Given the description of an element on the screen output the (x, y) to click on. 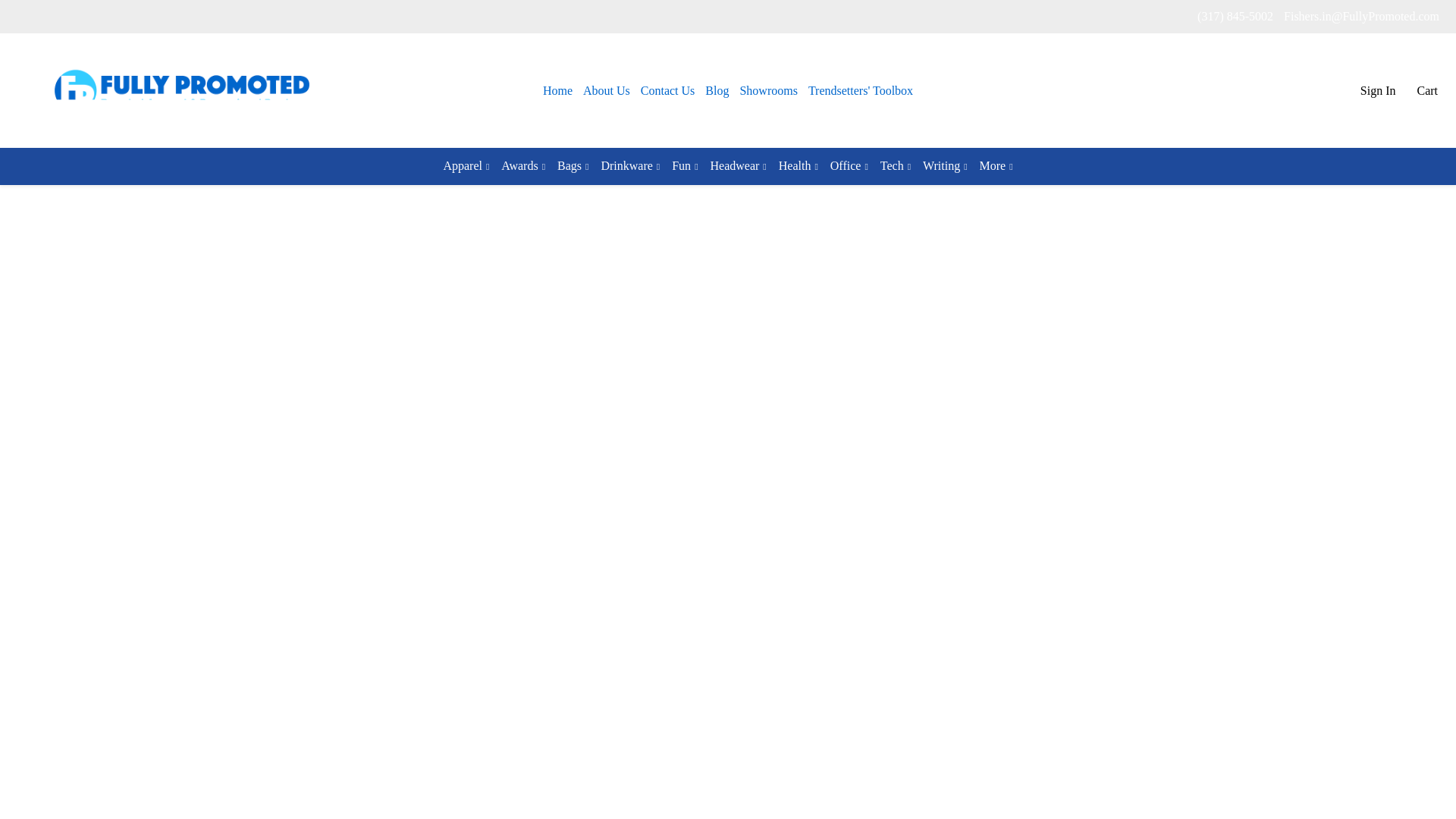
Sign In (1377, 90)
Blog (716, 90)
Showrooms (767, 90)
Trendsetters' Toolbox (860, 90)
Cart (1426, 90)
About Us (606, 90)
Contact Us (667, 90)
Home (557, 90)
